Given the description of an element on the screen output the (x, y) to click on. 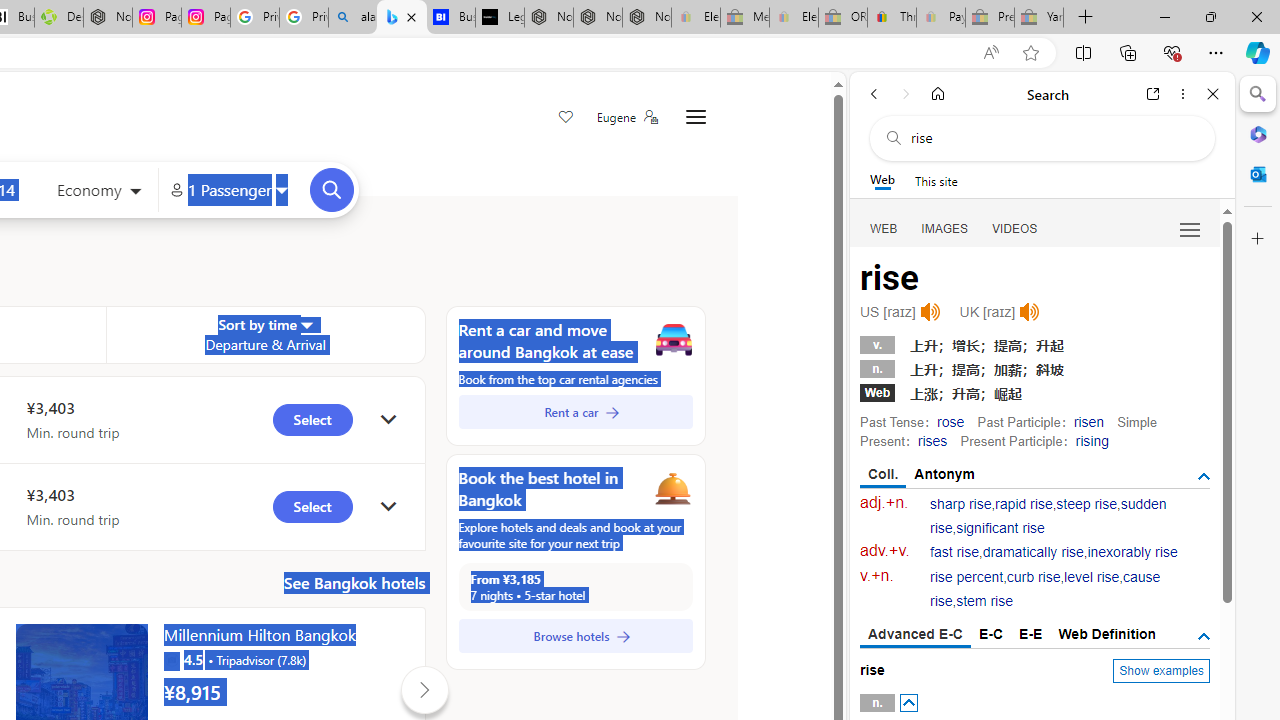
Search the web (1051, 137)
Click to scroll right (424, 690)
Descarga Driver Updater (58, 17)
Microsoft Bing Travel - Flights from Hong Kong to Bangkok (401, 17)
Yard, Garden & Outdoor Living - Sleeping (1039, 17)
Threats and offensive language policy | eBay (891, 17)
stem rise (984, 601)
risen (1088, 421)
AutomationID: tgsb (1203, 476)
